Given the description of an element on the screen output the (x, y) to click on. 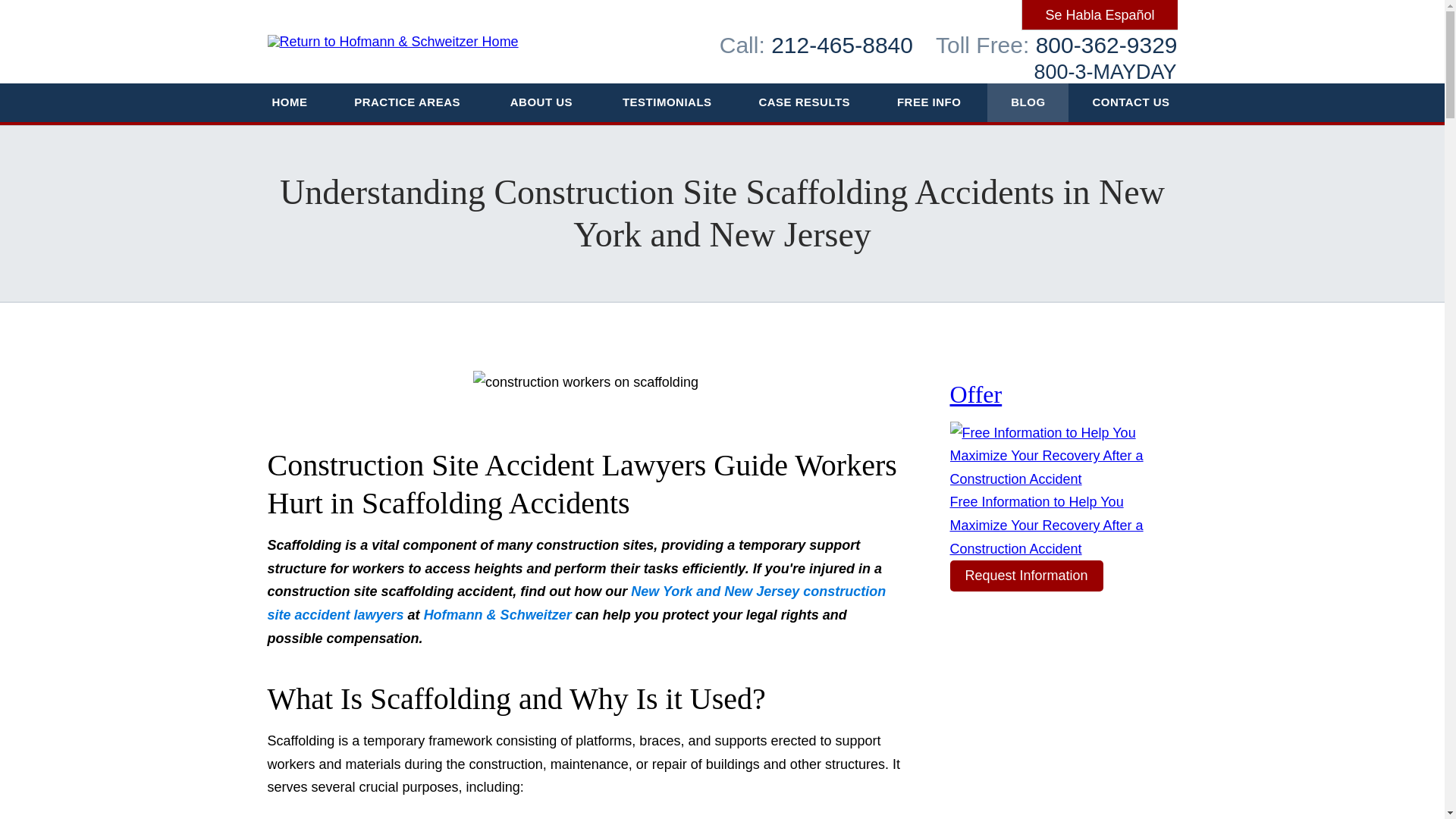
PRACTICE AREAS (408, 102)
TESTIMONIALS (666, 102)
CONTACT US (1131, 102)
CASE RESULTS (805, 102)
BLOG (1027, 102)
HOME (289, 102)
New York and New Jersey construction site accident lawyers (575, 602)
FREE INFO (930, 102)
ABOUT US (542, 102)
